Given the description of an element on the screen output the (x, y) to click on. 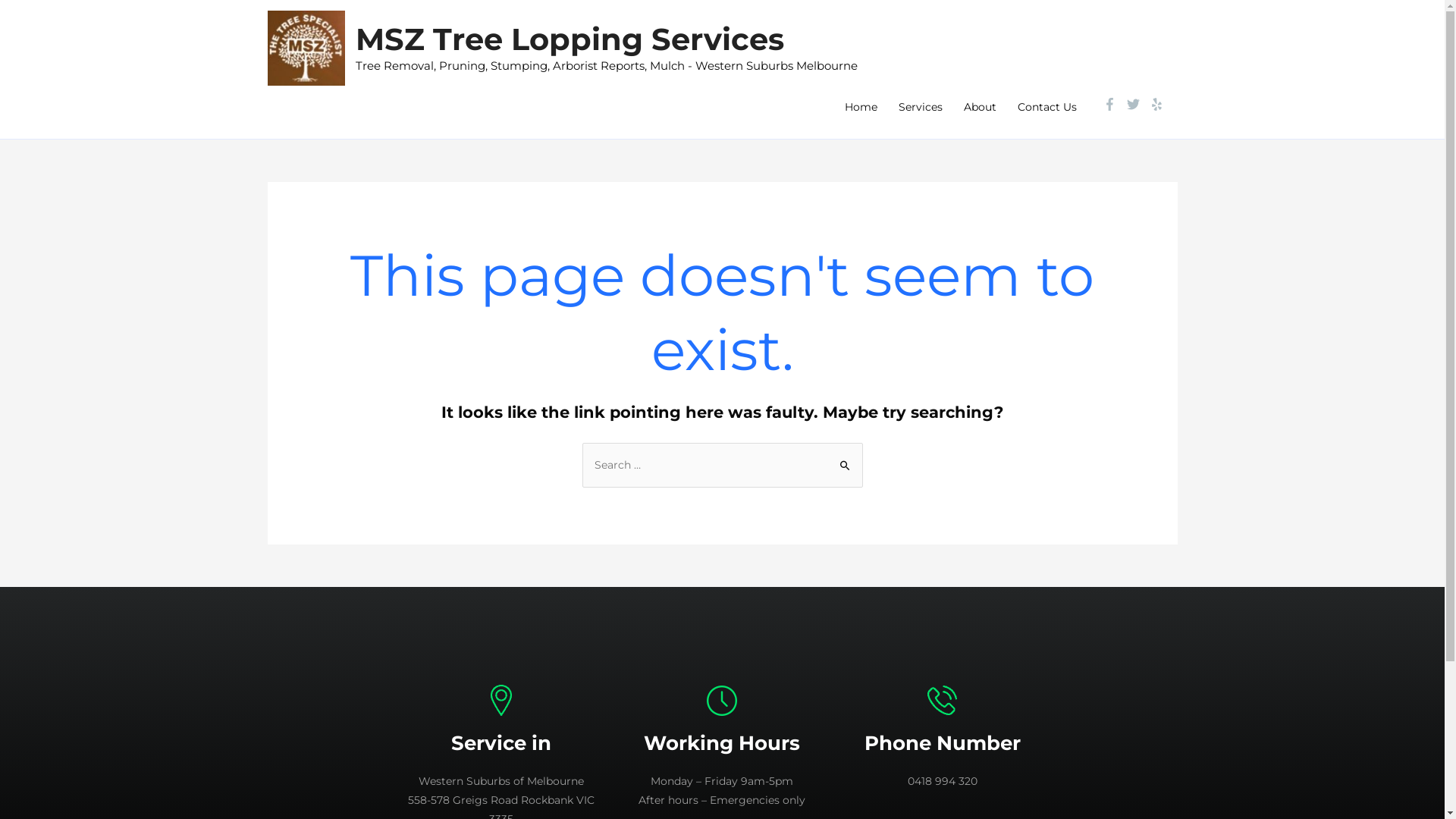
About Element type: text (979, 106)
Contact Us Element type: text (1047, 106)
Services Element type: text (919, 106)
Home Element type: text (861, 106)
MSZ Tree Lopping Services Element type: text (568, 38)
Search Element type: text (845, 458)
